Given the description of an element on the screen output the (x, y) to click on. 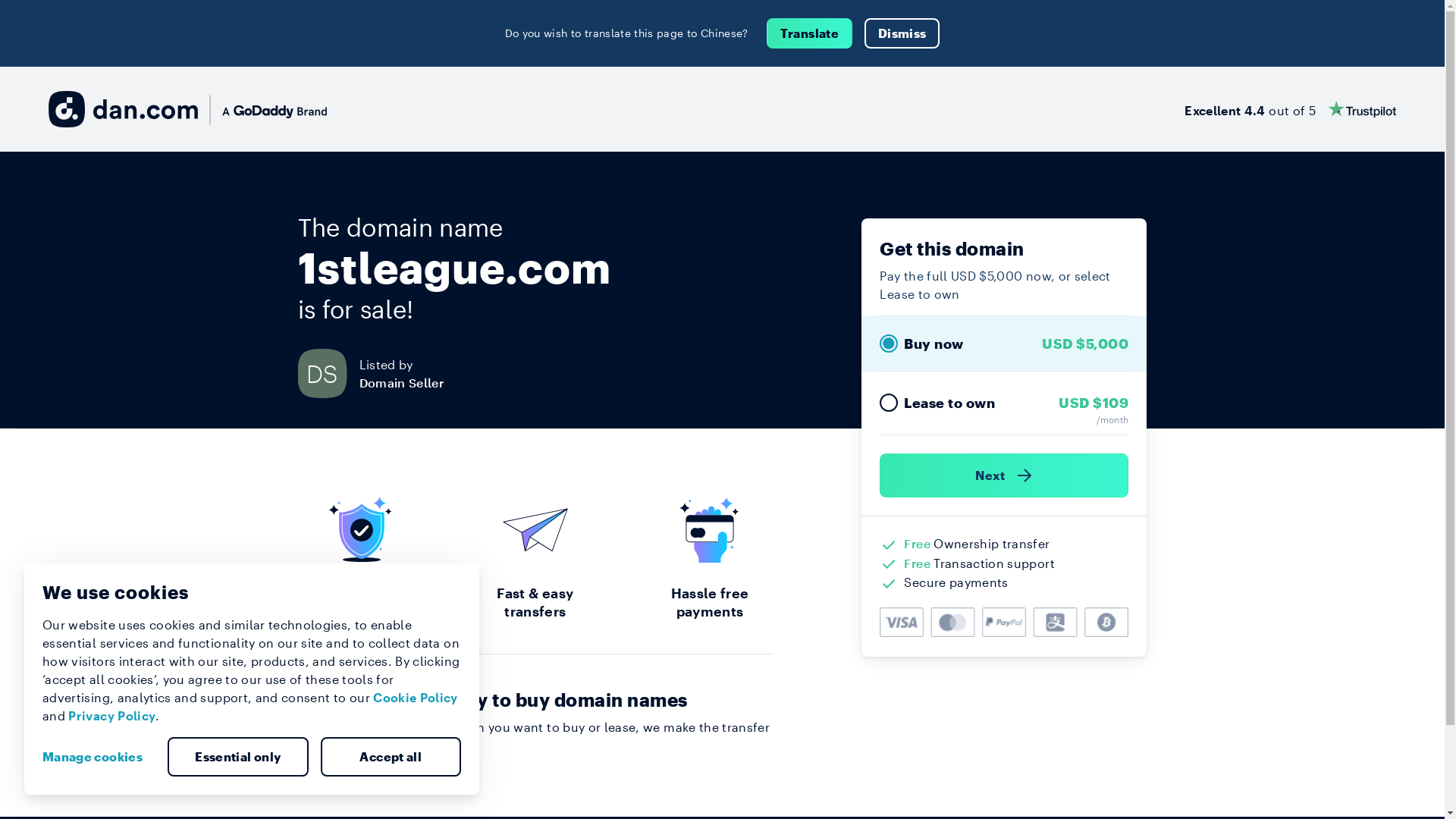
Essential only Element type: text (237, 756)
Manage cookies Element type: text (98, 756)
Dismiss Element type: text (901, 33)
Translate Element type: text (809, 33)
Next
) Element type: text (1003, 475)
Privacy Policy Element type: text (111, 715)
Cookie Policy Element type: text (415, 697)
Accept all Element type: text (390, 756)
Excellent 4.4 out of 5 Element type: text (1290, 109)
